Given the description of an element on the screen output the (x, y) to click on. 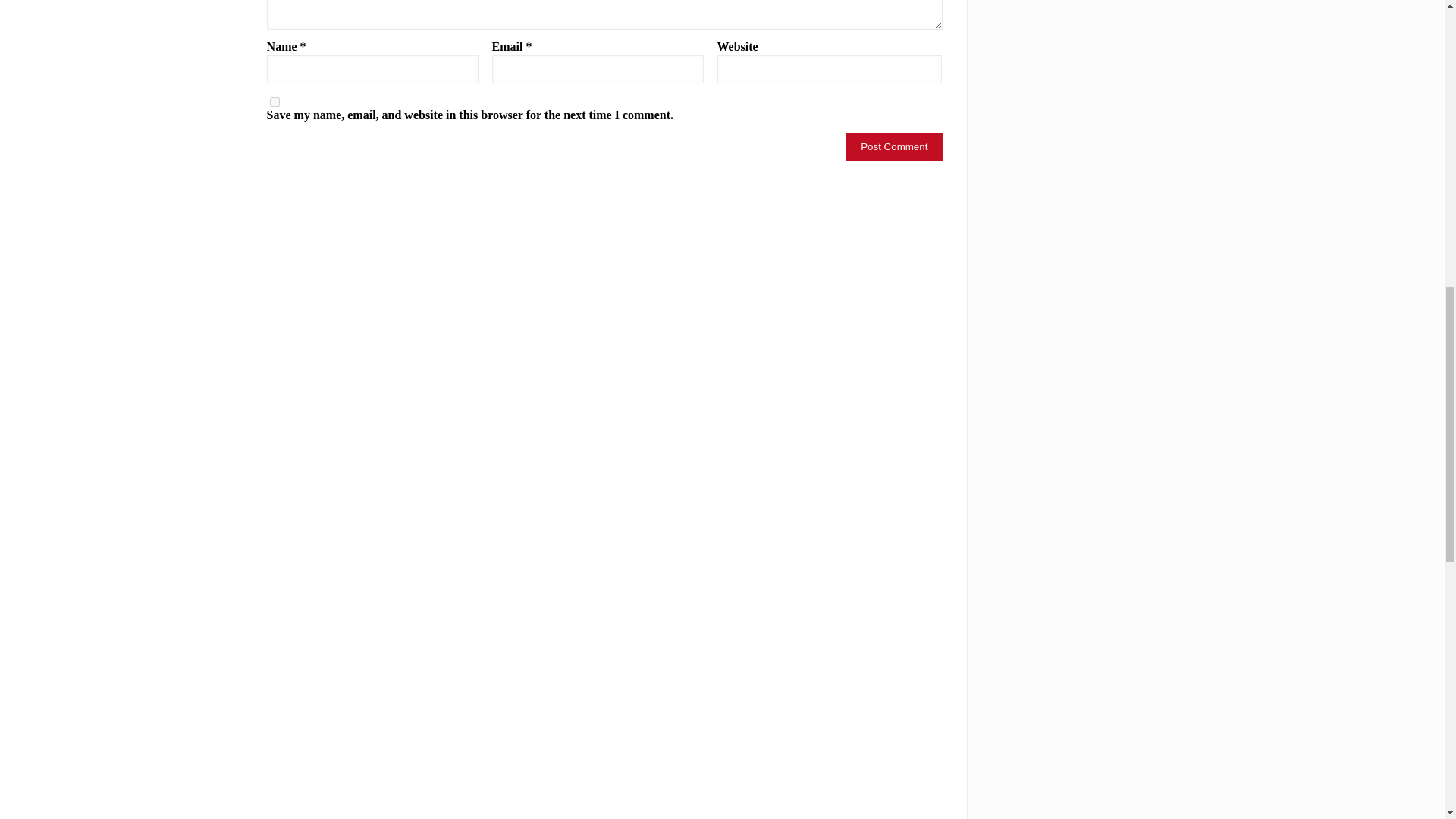
Post Comment (893, 146)
Post Comment (893, 146)
yes (274, 102)
